Given the description of an element on the screen output the (x, y) to click on. 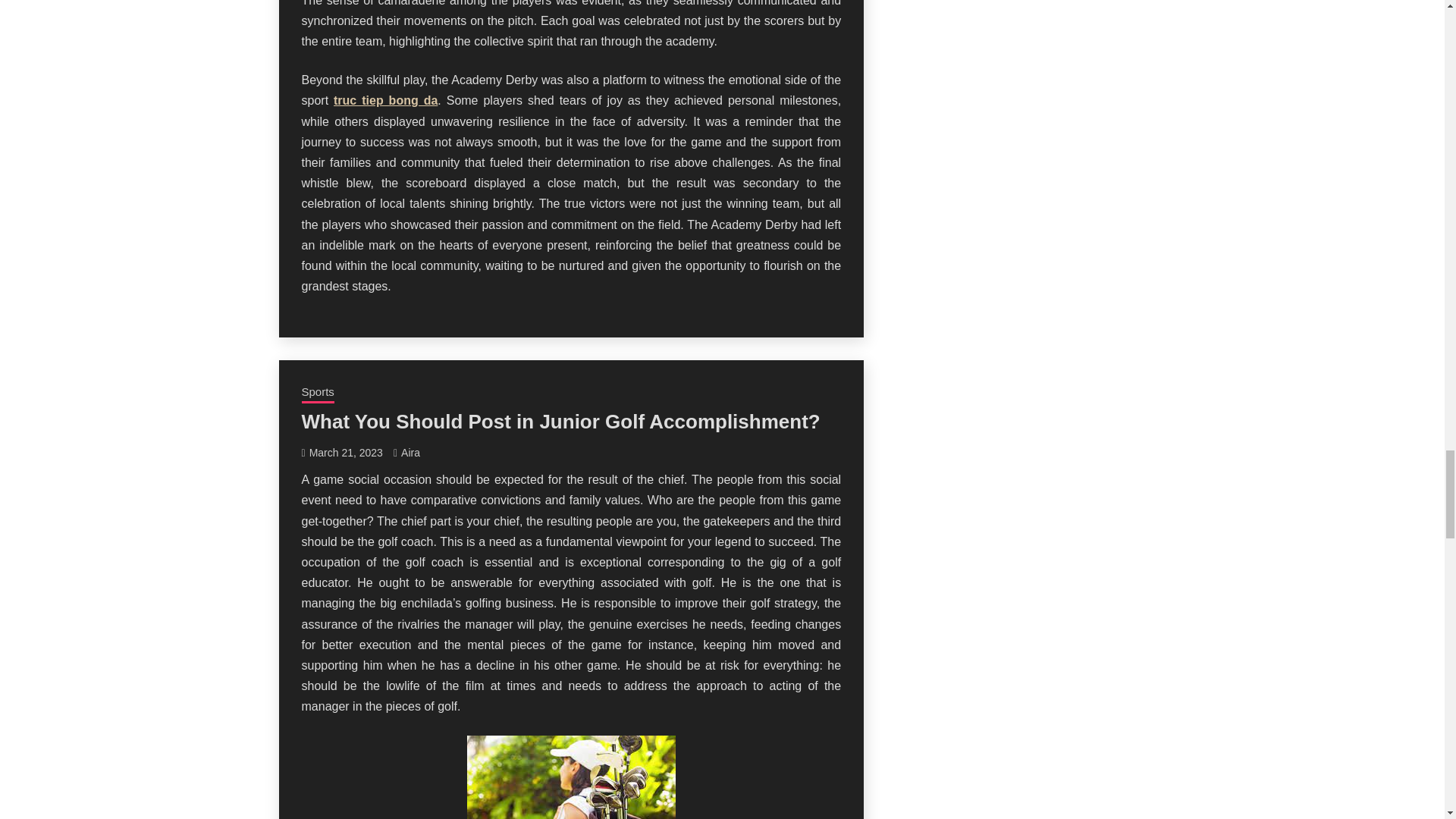
Aira (410, 452)
March 21, 2023 (345, 452)
What You Should Post in Junior Golf Accomplishment? (561, 421)
truc tiep bong da (385, 100)
Sports (317, 393)
